Given the description of an element on the screen output the (x, y) to click on. 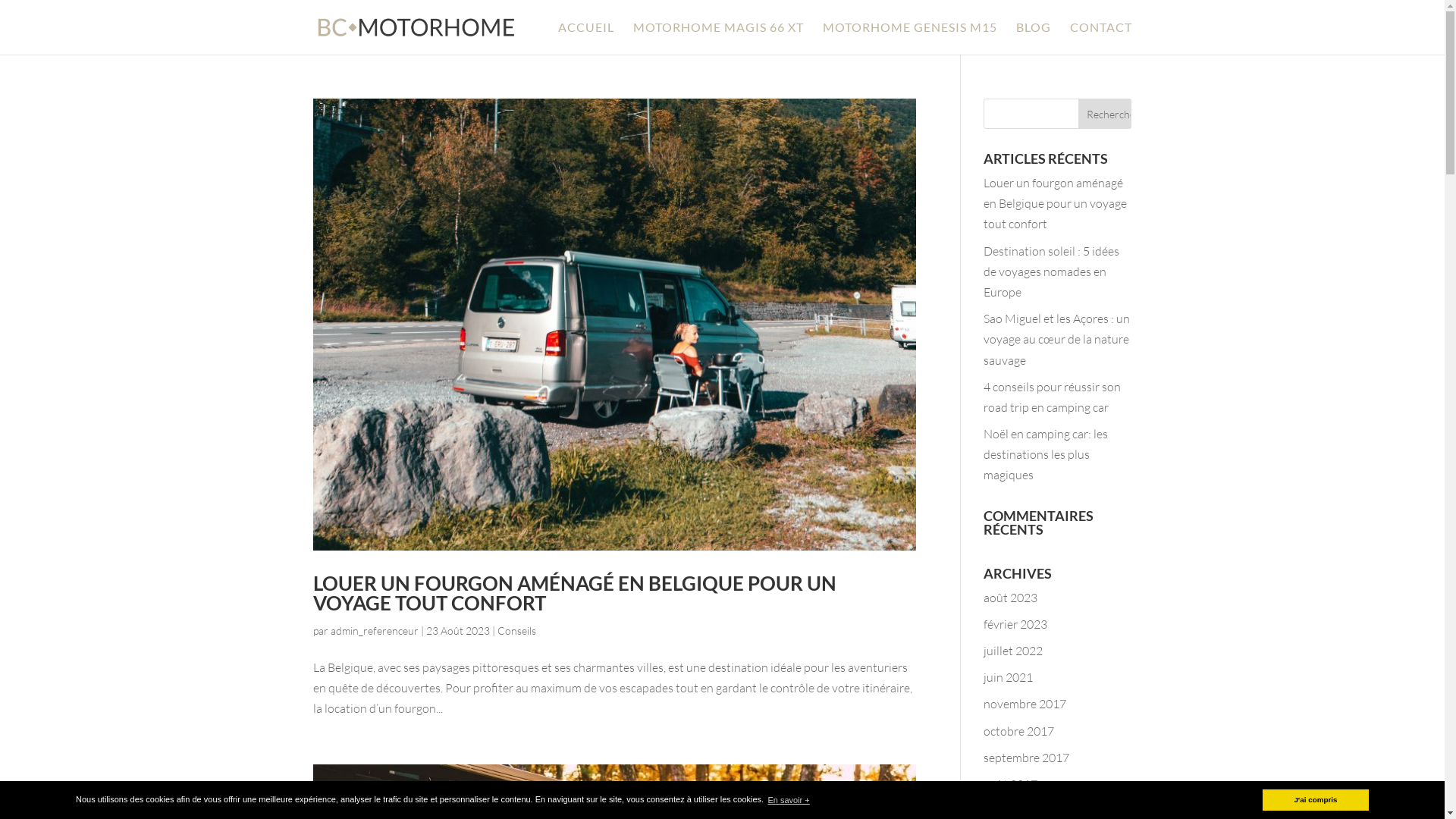
admin_referenceur Element type: text (374, 630)
octobre 2017 Element type: text (1018, 730)
Rechercher Element type: text (1104, 113)
septembre 2017 Element type: text (1026, 757)
J'ai compris Element type: text (1315, 799)
juin 2021 Element type: text (1007, 676)
juillet 2017 Element type: text (1012, 810)
novembre 2017 Element type: text (1024, 703)
BLOG Element type: text (1033, 37)
ACCUEIL Element type: text (586, 37)
MOTORHOME GENESIS M15 Element type: text (909, 37)
En savoir + Element type: text (788, 799)
MOTORHOME MAGIS 66 XT Element type: text (717, 37)
juillet 2022 Element type: text (1012, 650)
CONTACT Element type: text (1100, 37)
Conseils Element type: text (516, 630)
